Given the description of an element on the screen output the (x, y) to click on. 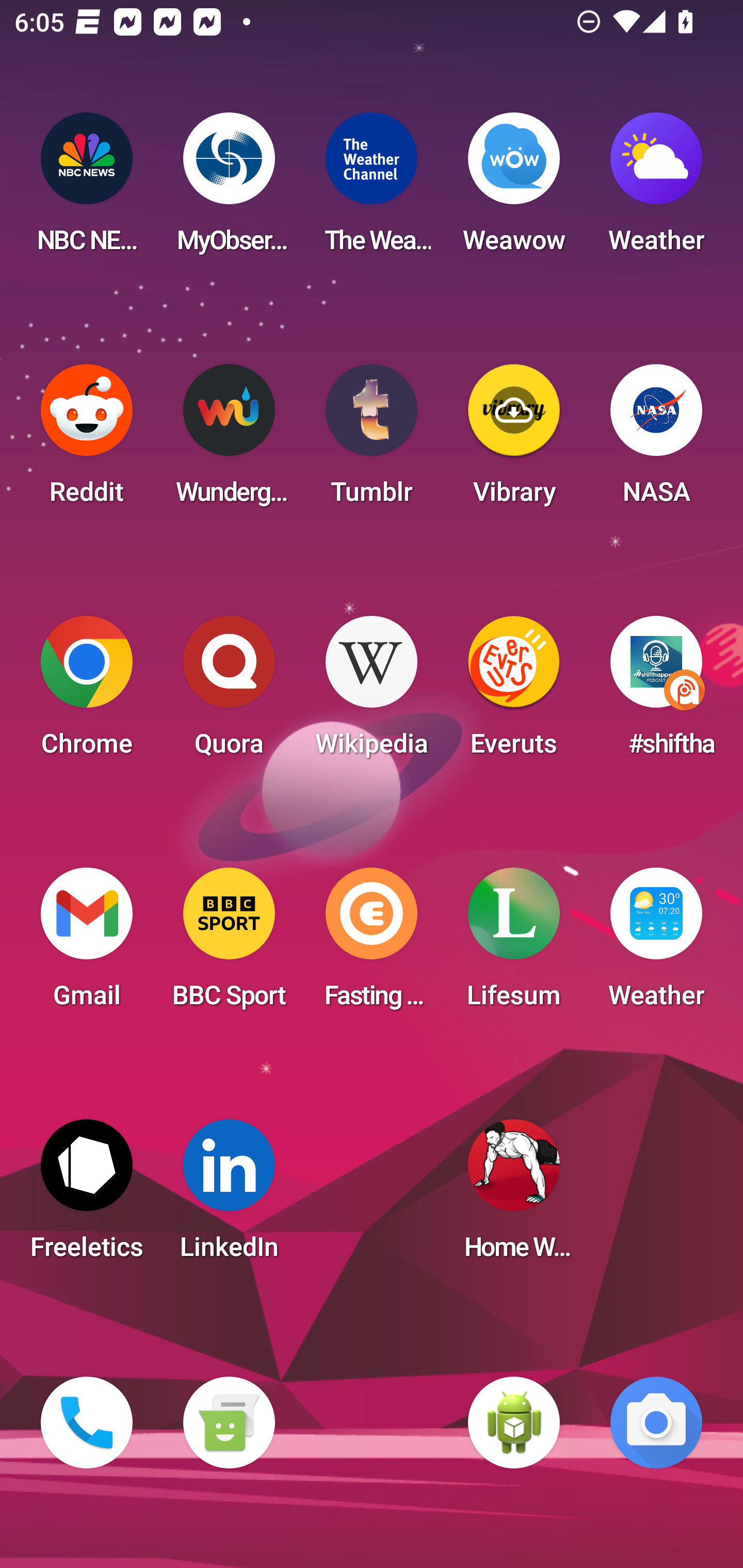
NBC NEWS (86, 188)
MyObservatory (228, 188)
The Weather Channel (371, 188)
Weawow (513, 188)
Weather (656, 188)
Reddit (86, 440)
Wunderground (228, 440)
Tumblr (371, 440)
Vibrary (513, 440)
NASA (656, 440)
Chrome (86, 692)
Quora (228, 692)
Wikipedia (371, 692)
Everuts (513, 692)
#shifthappens in the Digital Workplace Podcast (656, 692)
Gmail (86, 943)
BBC Sport (228, 943)
Fasting Coach (371, 943)
Lifesum (513, 943)
Weather (656, 943)
Freeletics (86, 1195)
LinkedIn (228, 1195)
Home Workout (513, 1195)
Phone (86, 1422)
Messaging (228, 1422)
WebView Browser Tester (513, 1422)
Camera (656, 1422)
